Given the description of an element on the screen output the (x, y) to click on. 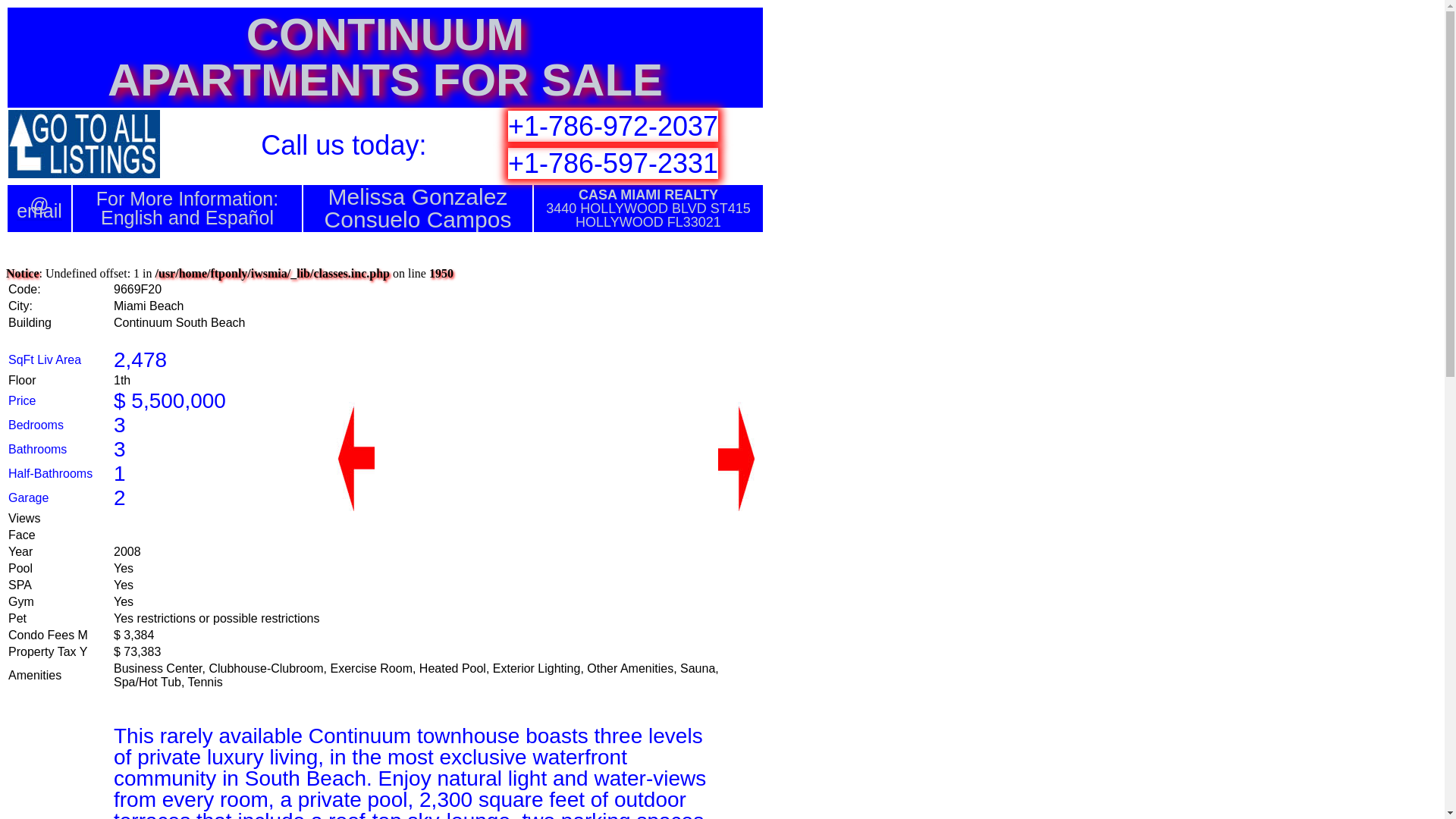
Spanish (239, 217)
